Given the description of an element on the screen output the (x, y) to click on. 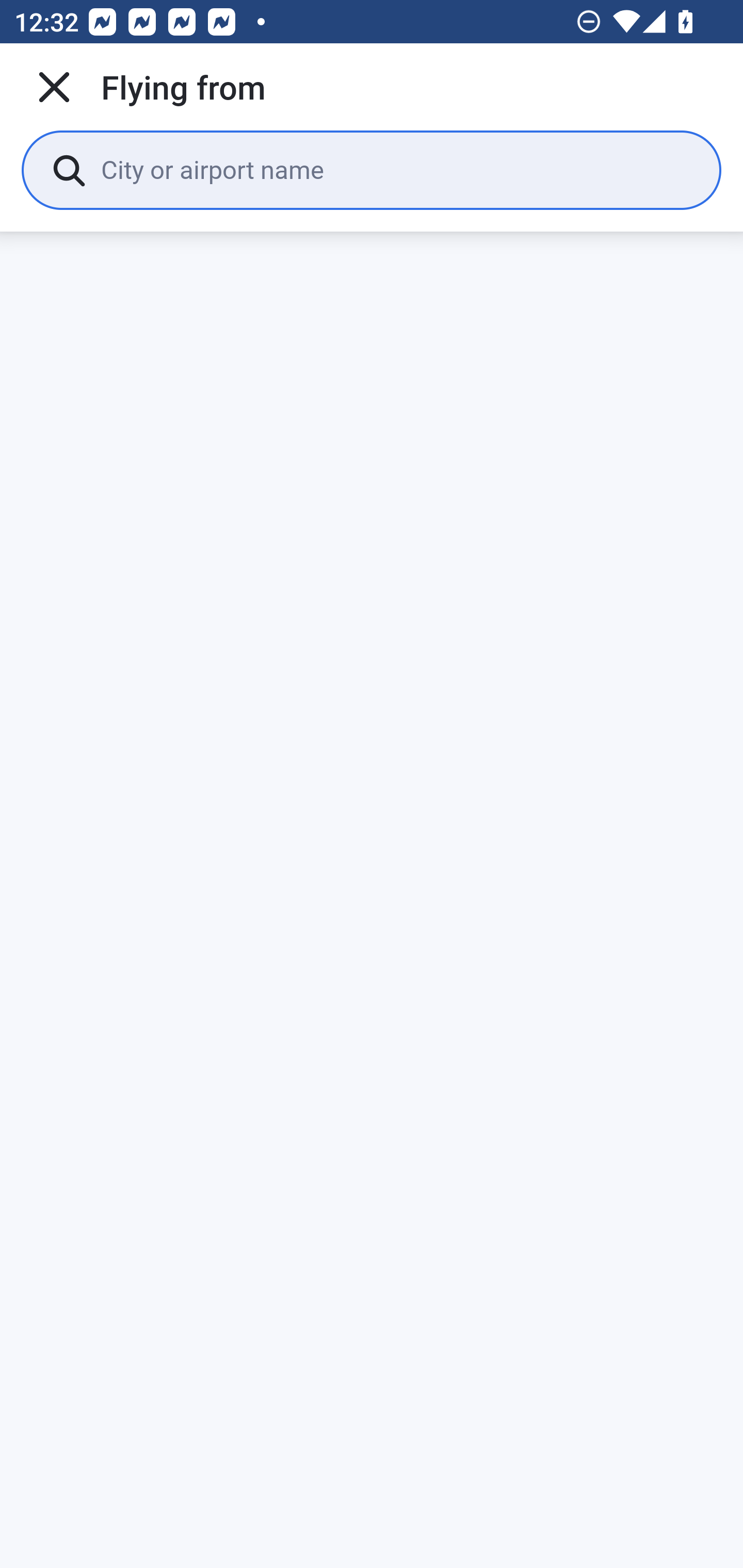
City or airport name (396, 169)
